Given the description of an element on the screen output the (x, y) to click on. 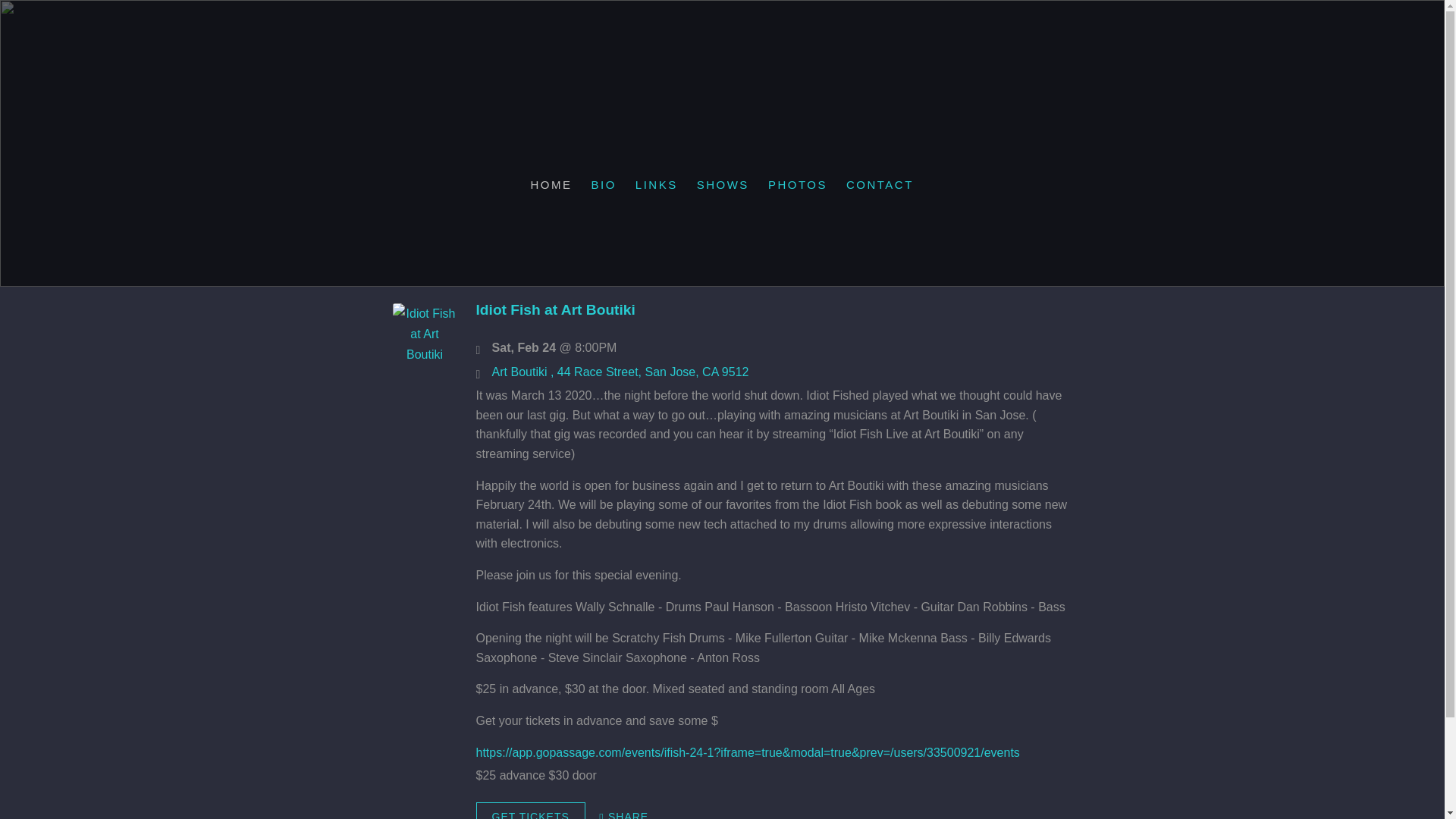
GET TICKETS (530, 810)
LINKS (657, 183)
PHOTOS (797, 183)
HOME (551, 183)
Idiot Fish at Art Boutiki (555, 309)
Visit venue website (620, 371)
Idiot Fish at Art Boutiki (425, 354)
CONTACT (880, 183)
SHARE (622, 811)
SHOWS (723, 183)
